Given the description of an element on the screen output the (x, y) to click on. 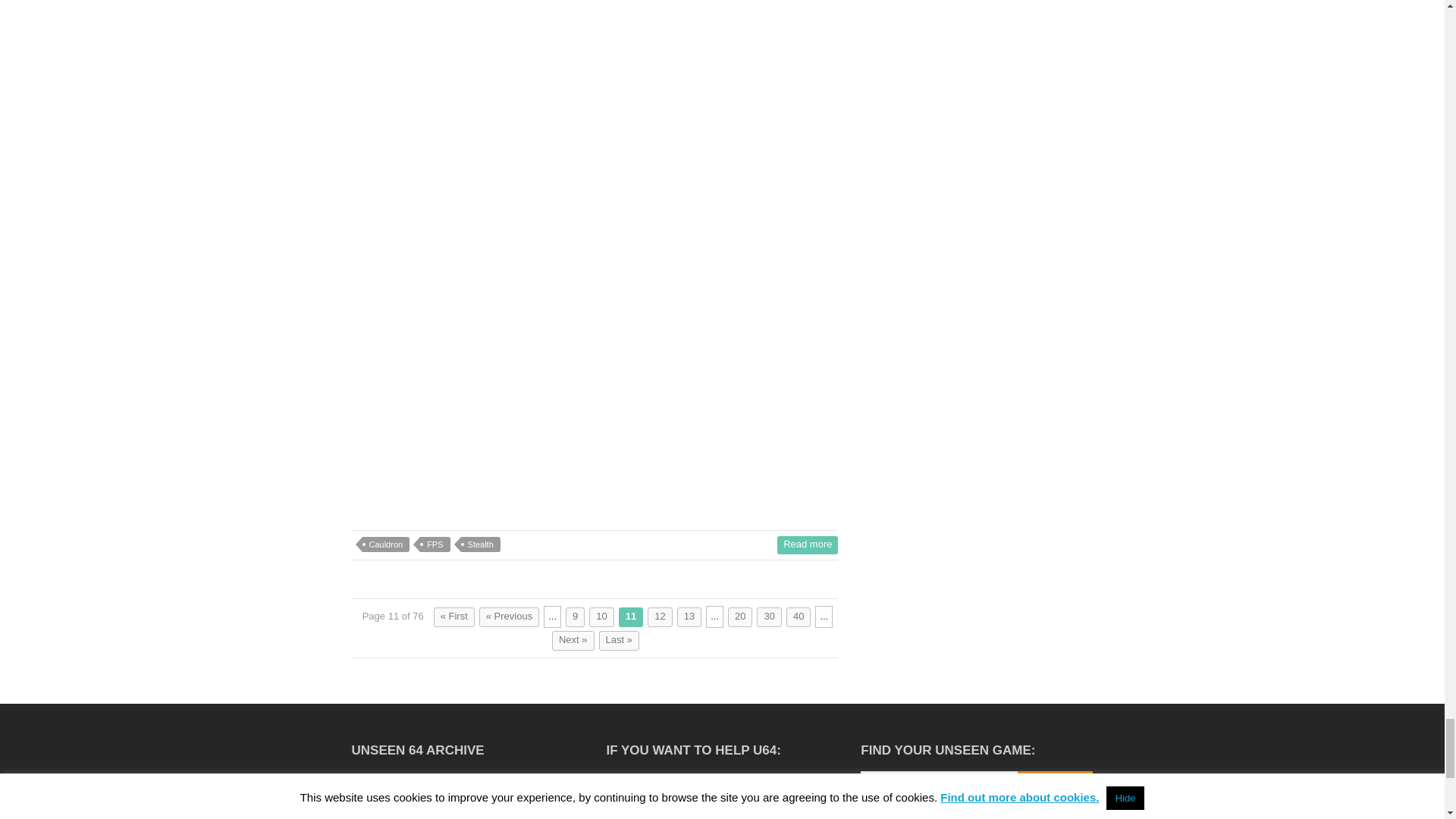
Search (1055, 786)
Search (1055, 786)
